Given the description of an element on the screen output the (x, y) to click on. 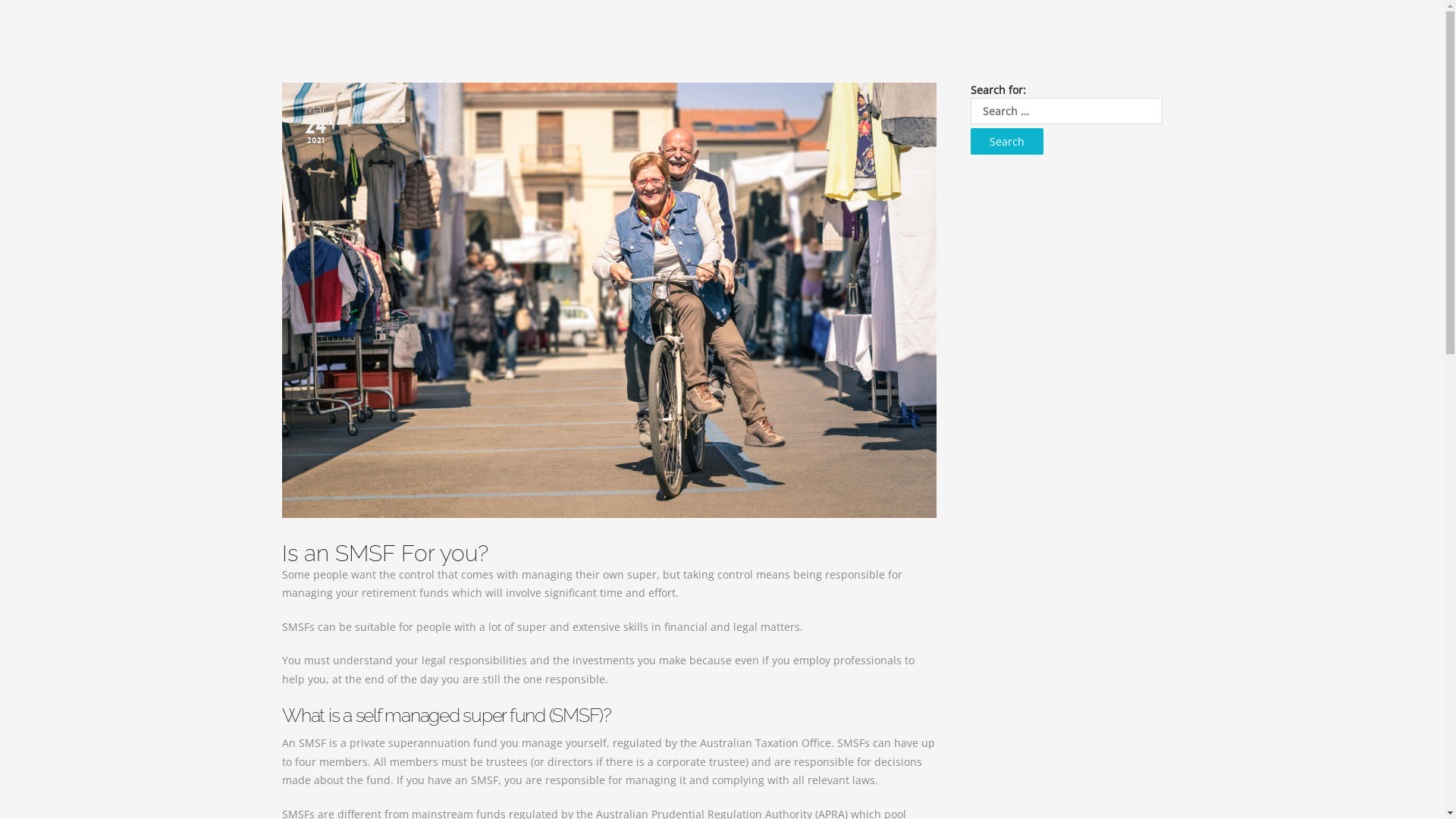
Is an SMSF For you? Element type: text (609, 552)
Search Element type: text (1006, 141)
